Given the description of an element on the screen output the (x, y) to click on. 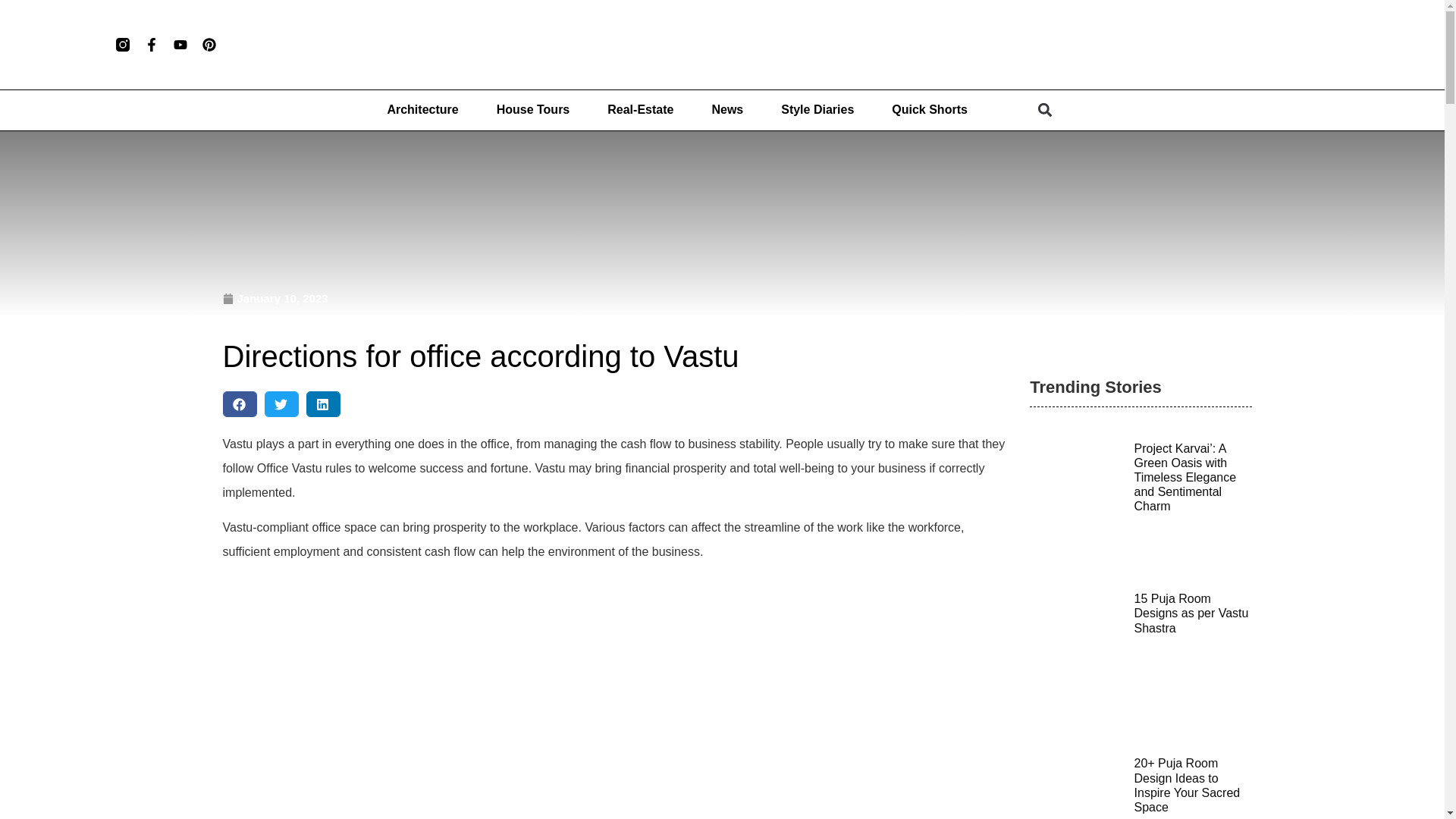
Style Diaries (816, 109)
House Tours (533, 109)
January 10, 2023 (275, 298)
15 Puja Room Designs as per Vastu Shastra (1191, 612)
Quick Shorts (929, 109)
Architecture (422, 109)
News (726, 109)
Real-Estate (639, 109)
